Given the description of an element on the screen output the (x, y) to click on. 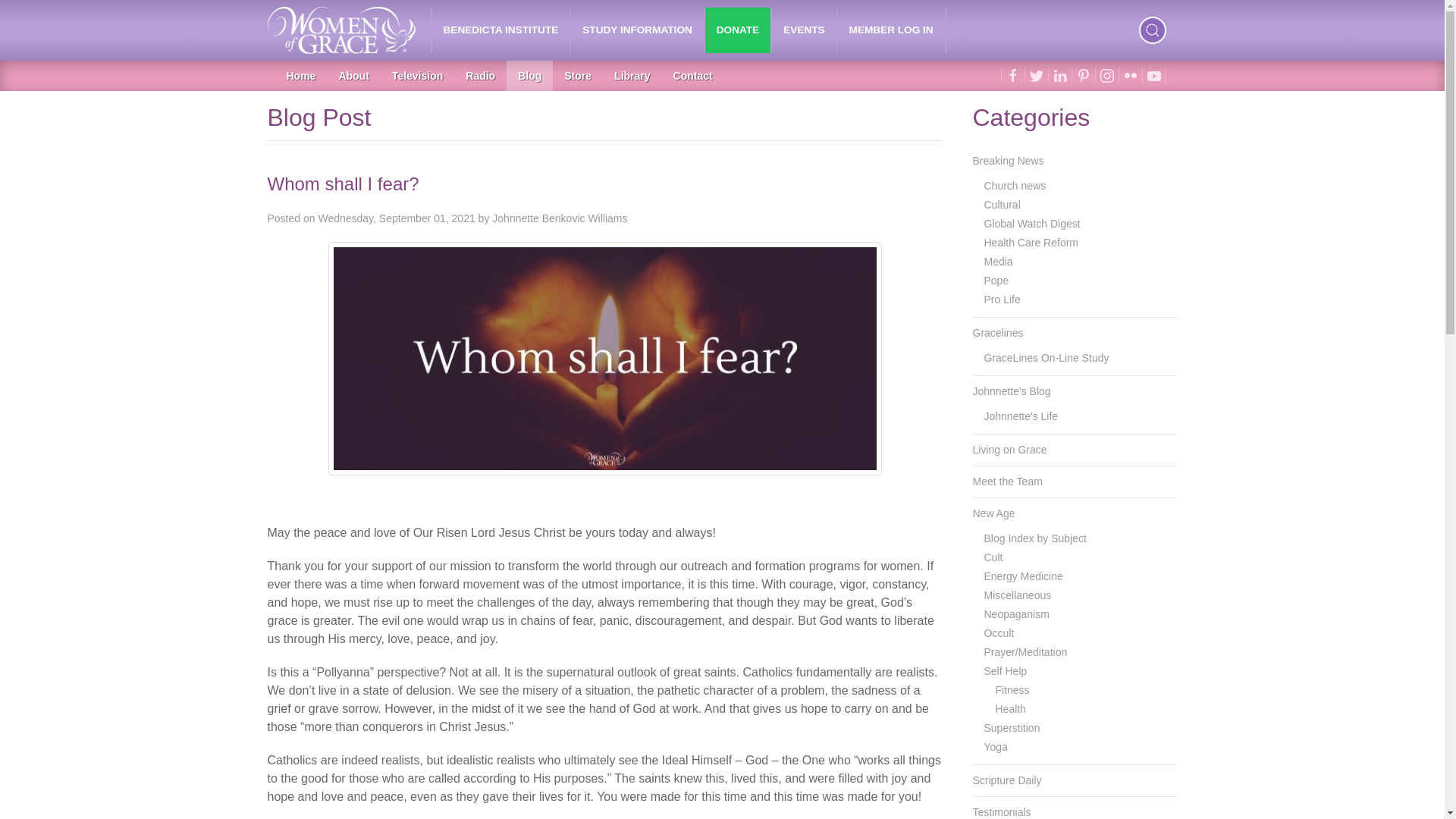
Radio (480, 75)
Television (417, 75)
About (353, 75)
DONATE (737, 30)
Wednesday, September 01, 2021 (395, 218)
MEMBER LOG IN (891, 30)
STUDY INFORMATION (636, 30)
EVENTS (803, 30)
View all posts by Johnnette Benkovic Williams (559, 218)
12:27 pm (395, 218)
BENEDICTA INSTITUTE (501, 30)
Johnnette Benkovic Williams (559, 218)
Home (300, 75)
Breaking News (1074, 160)
Store (577, 75)
